Given the description of an element on the screen output the (x, y) to click on. 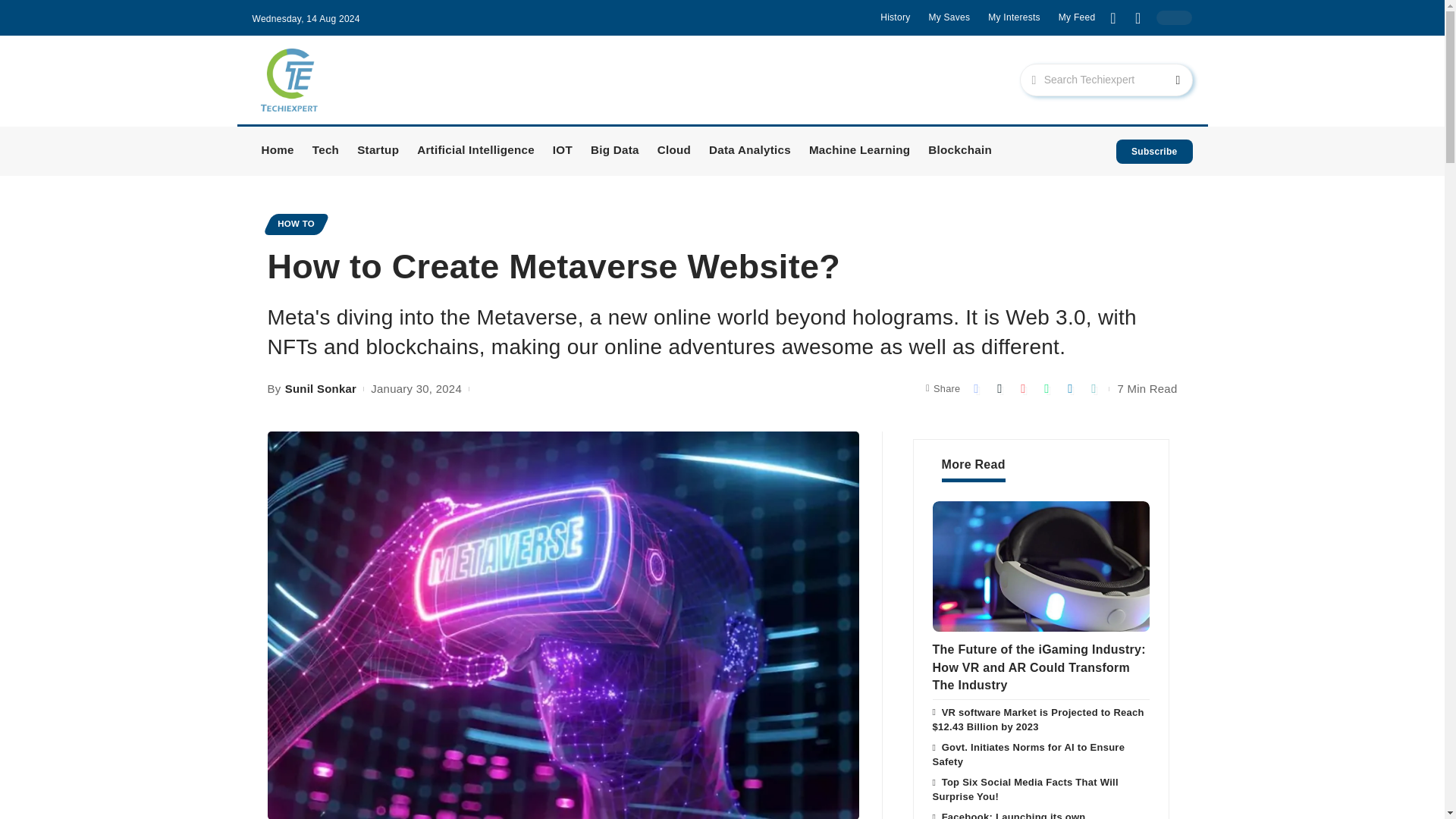
Search (1164, 80)
Subscribe (1154, 151)
Data Analytics (749, 151)
My Feed (1077, 17)
Home (276, 151)
Big Data (613, 151)
Blockchain (959, 151)
My Saves (948, 17)
